Given the description of an element on the screen output the (x, y) to click on. 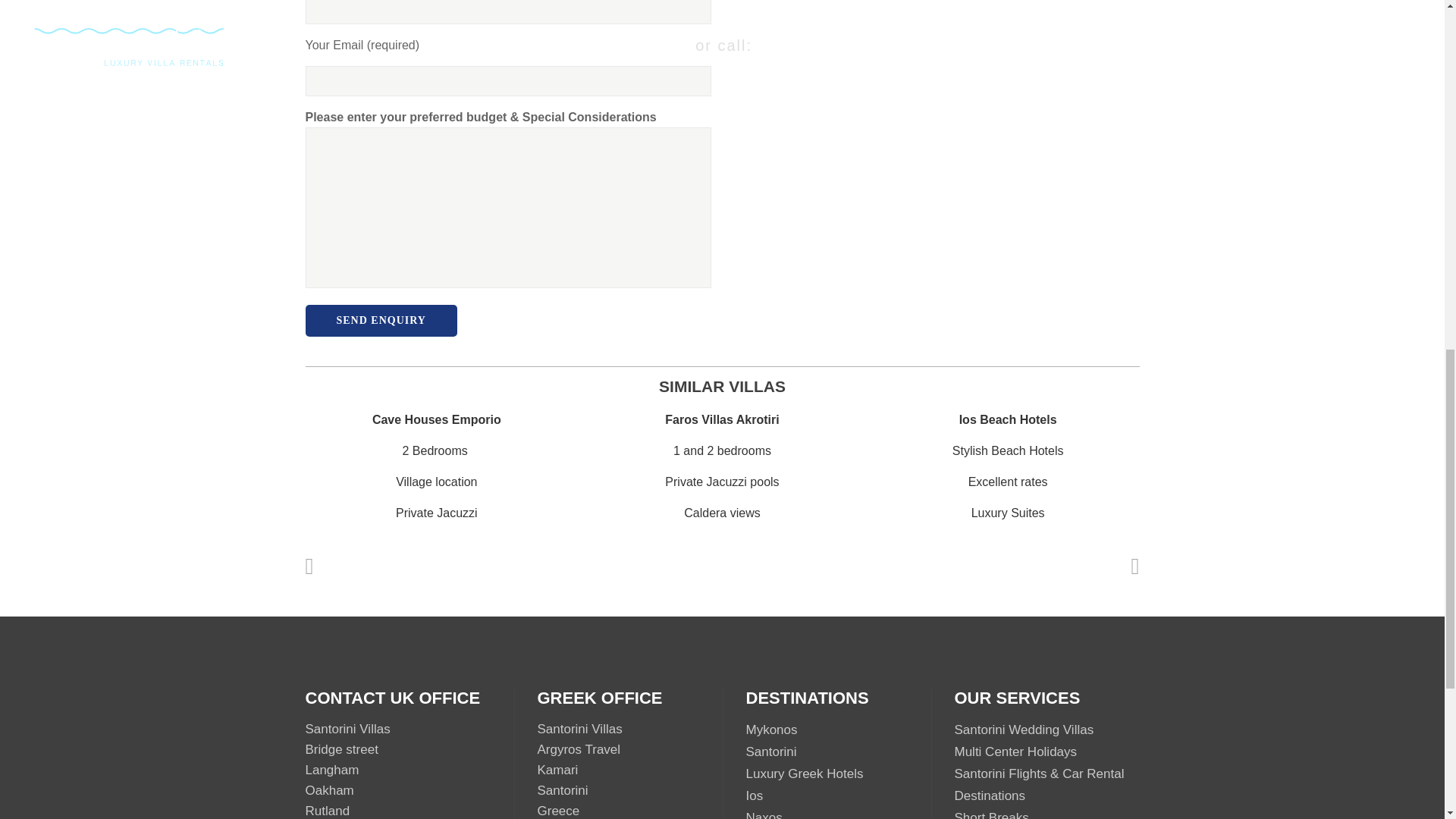
Naxos Luxury Hotels (764, 814)
Villas in Santorini (770, 751)
Luxury Greek Hotels (804, 773)
Ios Luxury Hotels (753, 795)
Send Enquiry (380, 320)
Villas in Mykonos (771, 729)
